Given the description of an element on the screen output the (x, y) to click on. 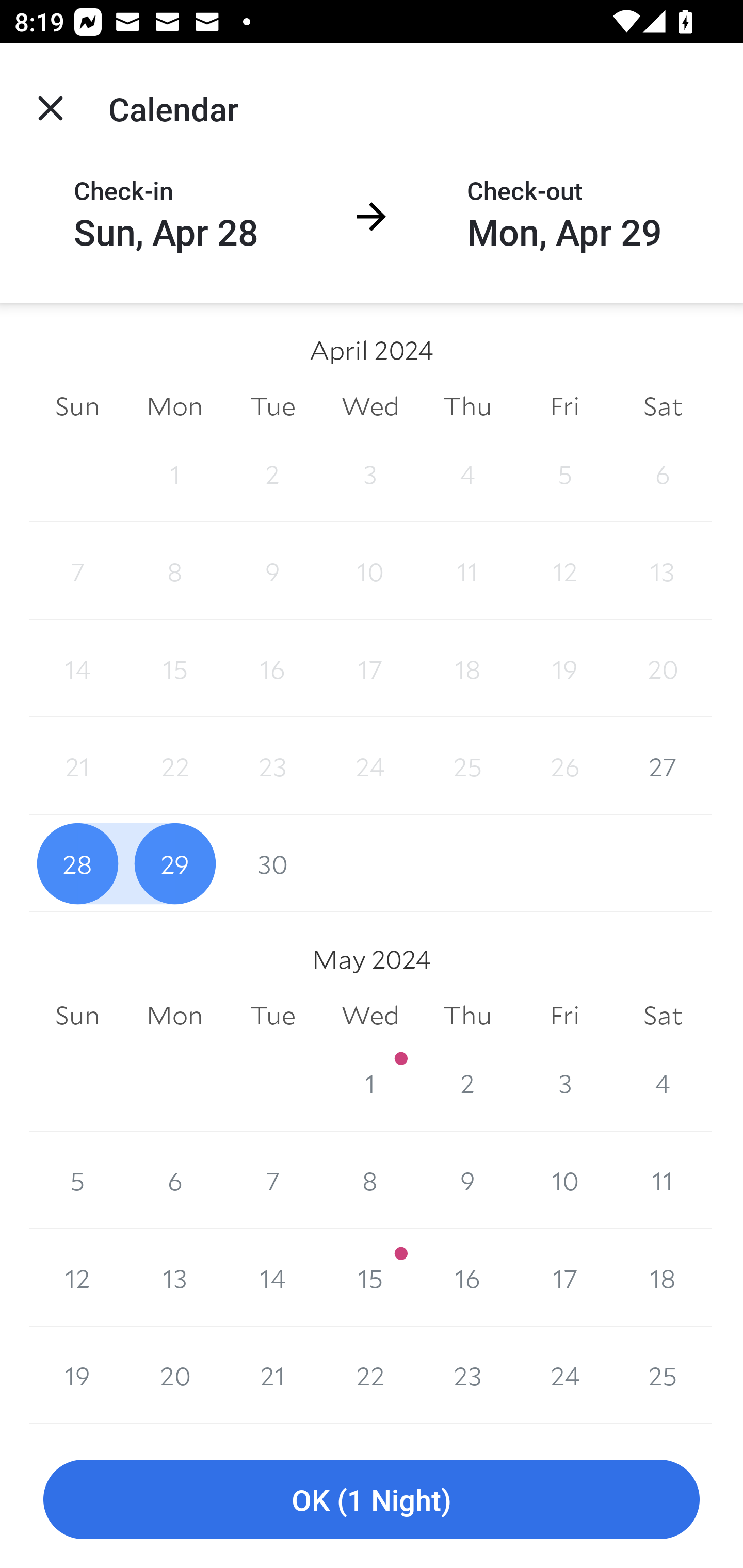
Sun (77, 405)
Mon (174, 405)
Tue (272, 405)
Wed (370, 405)
Thu (467, 405)
Fri (564, 405)
Sat (662, 405)
1 1 April 2024 (174, 473)
2 2 April 2024 (272, 473)
3 3 April 2024 (370, 473)
4 4 April 2024 (467, 473)
5 5 April 2024 (564, 473)
6 6 April 2024 (662, 473)
7 7 April 2024 (77, 570)
8 8 April 2024 (174, 570)
9 9 April 2024 (272, 570)
10 10 April 2024 (370, 570)
11 11 April 2024 (467, 570)
12 12 April 2024 (564, 570)
13 13 April 2024 (662, 570)
14 14 April 2024 (77, 668)
15 15 April 2024 (174, 668)
16 16 April 2024 (272, 668)
17 17 April 2024 (370, 668)
18 18 April 2024 (467, 668)
19 19 April 2024 (564, 668)
20 20 April 2024 (662, 668)
21 21 April 2024 (77, 766)
22 22 April 2024 (174, 766)
23 23 April 2024 (272, 766)
24 24 April 2024 (370, 766)
25 25 April 2024 (467, 766)
26 26 April 2024 (564, 766)
27 27 April 2024 (662, 766)
28 28 April 2024 (77, 863)
29 29 April 2024 (174, 863)
30 30 April 2024 (272, 863)
Sun (77, 1015)
Mon (174, 1015)
Tue (272, 1015)
Wed (370, 1015)
Thu (467, 1015)
Fri (564, 1015)
Sat (662, 1015)
1 1 May 2024 (370, 1083)
2 2 May 2024 (467, 1083)
3 3 May 2024 (564, 1083)
4 4 May 2024 (662, 1083)
5 5 May 2024 (77, 1180)
6 6 May 2024 (174, 1180)
7 7 May 2024 (272, 1180)
8 8 May 2024 (370, 1180)
9 9 May 2024 (467, 1180)
10 10 May 2024 (564, 1180)
11 11 May 2024 (662, 1180)
12 12 May 2024 (77, 1277)
13 13 May 2024 (174, 1277)
14 14 May 2024 (272, 1277)
15 15 May 2024 (370, 1277)
16 16 May 2024 (467, 1277)
17 17 May 2024 (564, 1277)
18 18 May 2024 (662, 1277)
19 19 May 2024 (77, 1374)
20 20 May 2024 (174, 1374)
21 21 May 2024 (272, 1374)
22 22 May 2024 (370, 1374)
23 23 May 2024 (467, 1374)
24 24 May 2024 (564, 1374)
25 25 May 2024 (662, 1374)
OK (1 Night) (371, 1499)
